Given the description of an element on the screen output the (x, y) to click on. 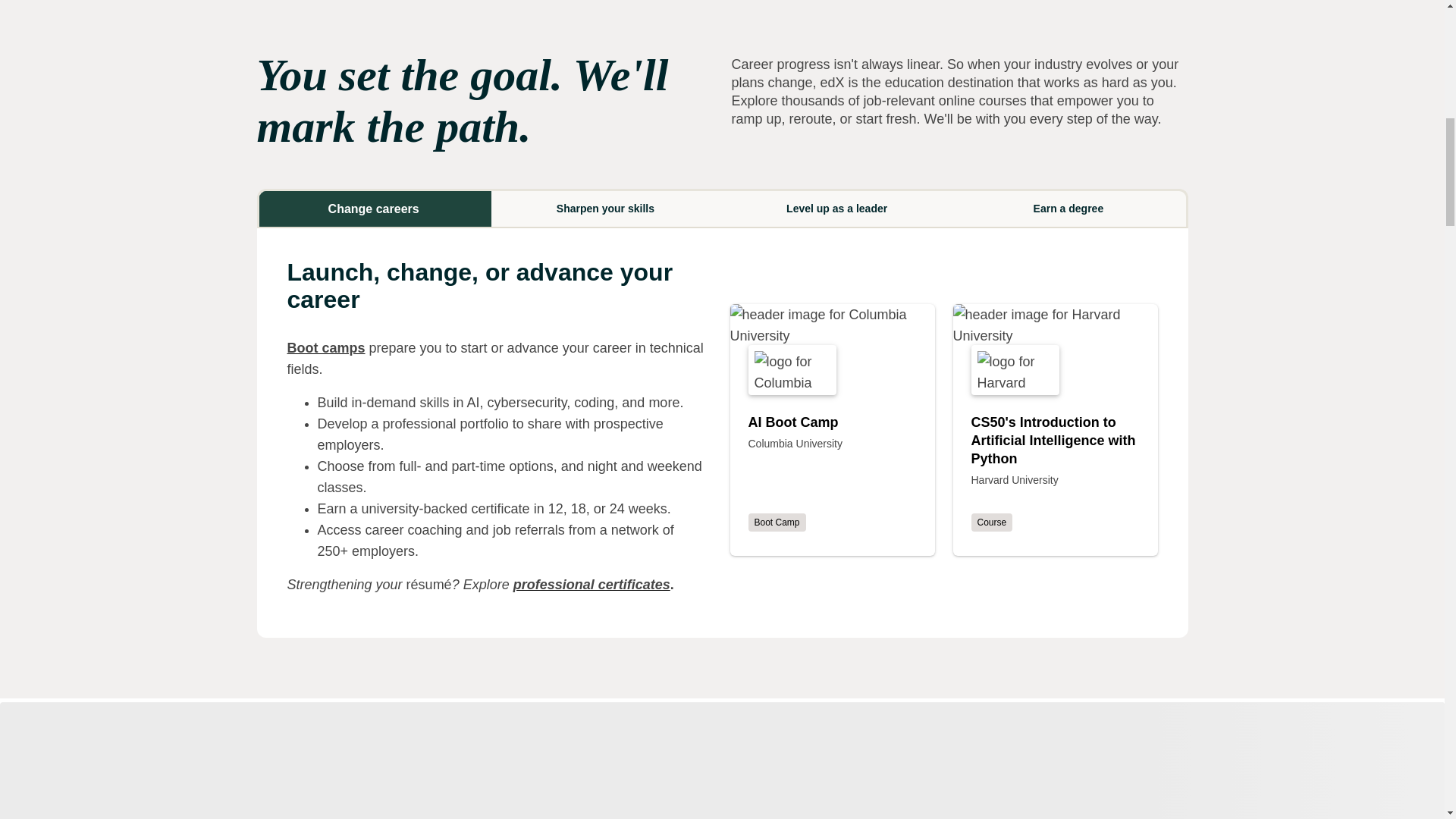
Boot camps (325, 347)
professional certificates (591, 584)
